Given the description of an element on the screen output the (x, y) to click on. 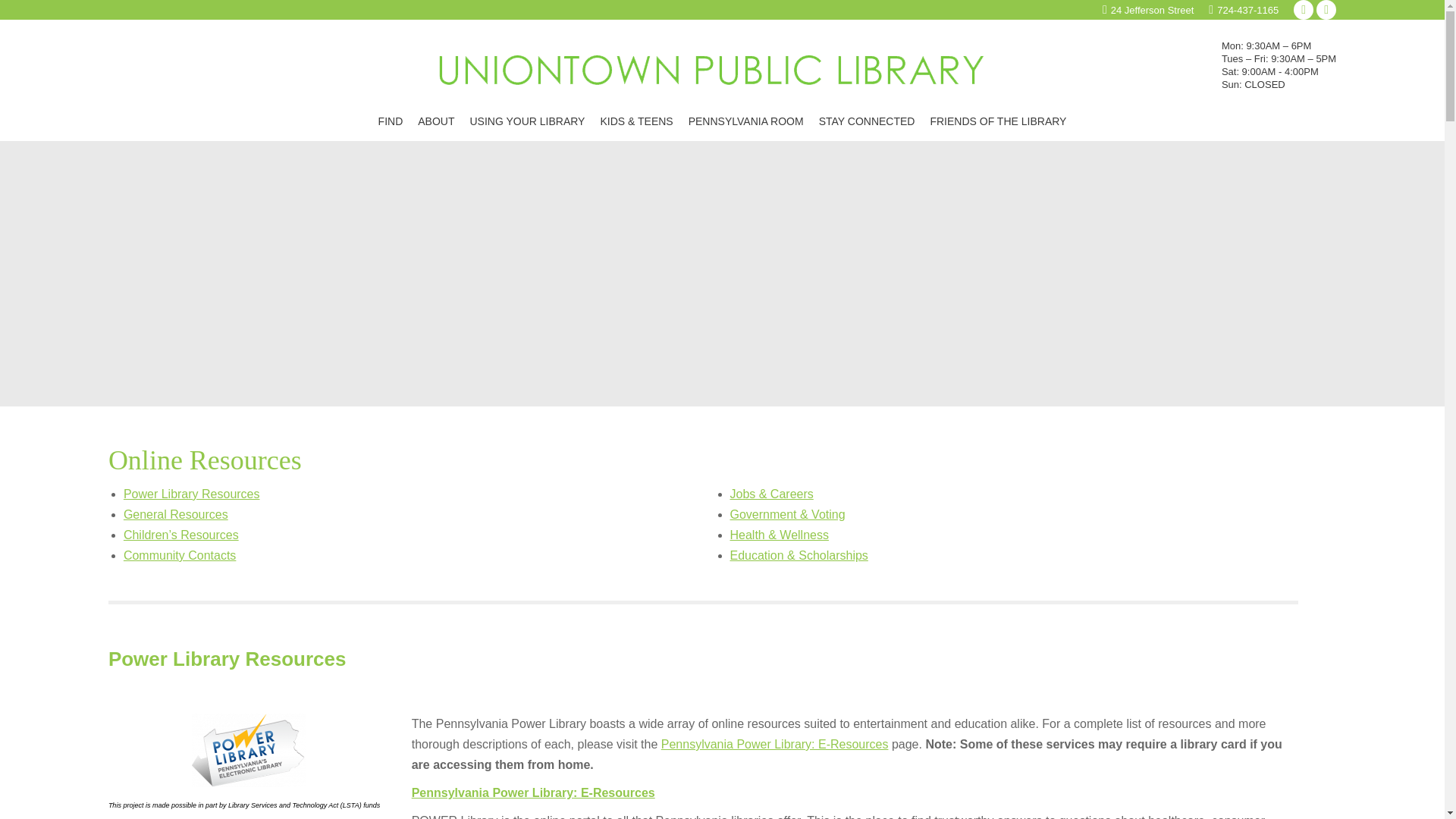
ABOUT (435, 121)
Facebook page opens in new window (1326, 9)
FIND (390, 121)
Mail page opens in new window (1303, 9)
Mail page opens in new window (1303, 9)
USING YOUR LIBRARY (526, 121)
Facebook page opens in new window (1326, 9)
